Given the description of an element on the screen output the (x, y) to click on. 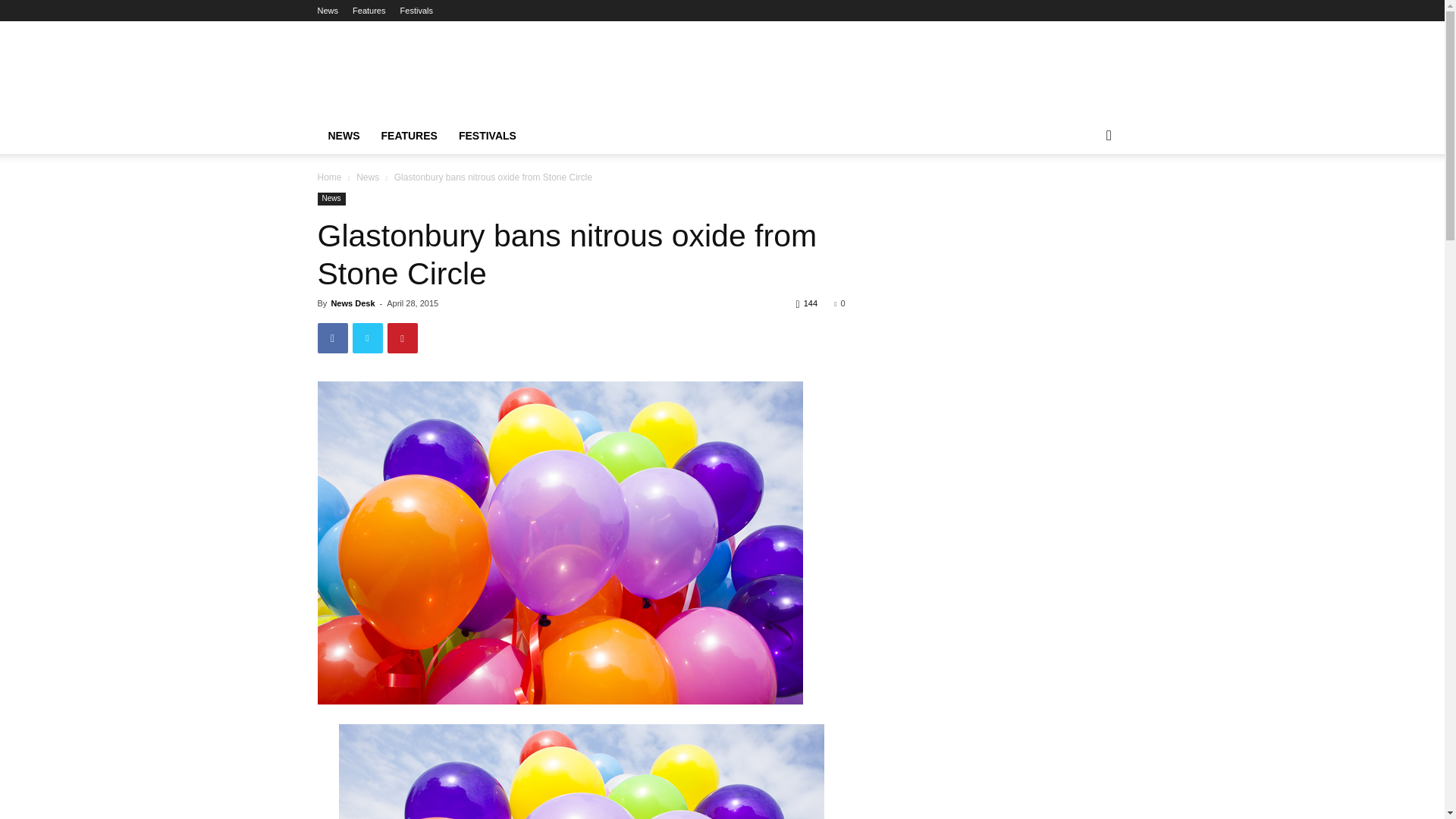
Features (368, 10)
Search (1085, 196)
View all posts in News (367, 176)
Festivals (416, 10)
News Desk (352, 302)
0 (839, 302)
News (331, 198)
FEATURES (407, 135)
News (367, 176)
Home (328, 176)
FESTIVALS (487, 135)
News (327, 10)
NEWS (343, 135)
